Given the description of an element on the screen output the (x, y) to click on. 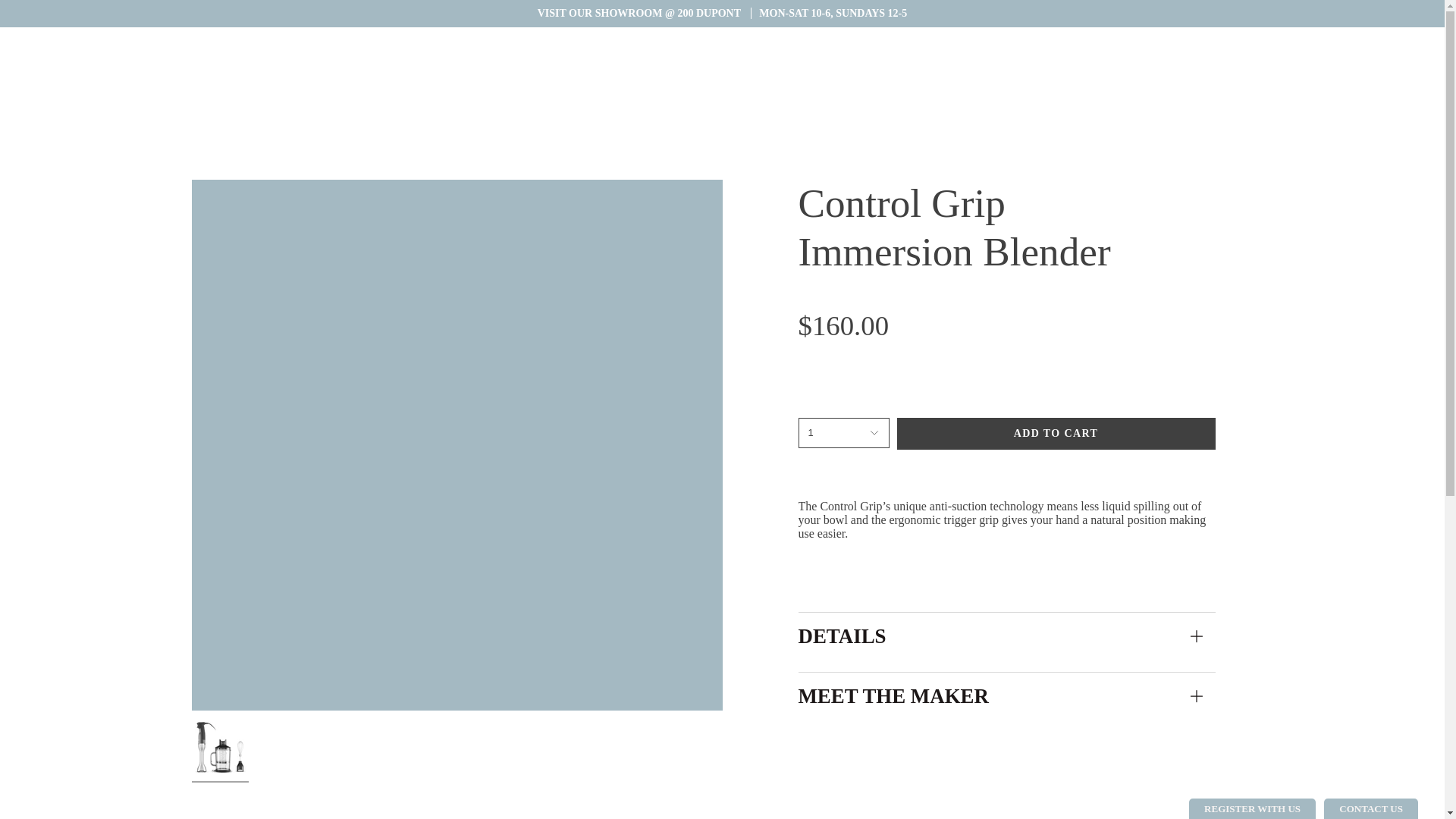
Blog (91, 37)
About (50, 37)
Contact (134, 37)
